Given the description of an element on the screen output the (x, y) to click on. 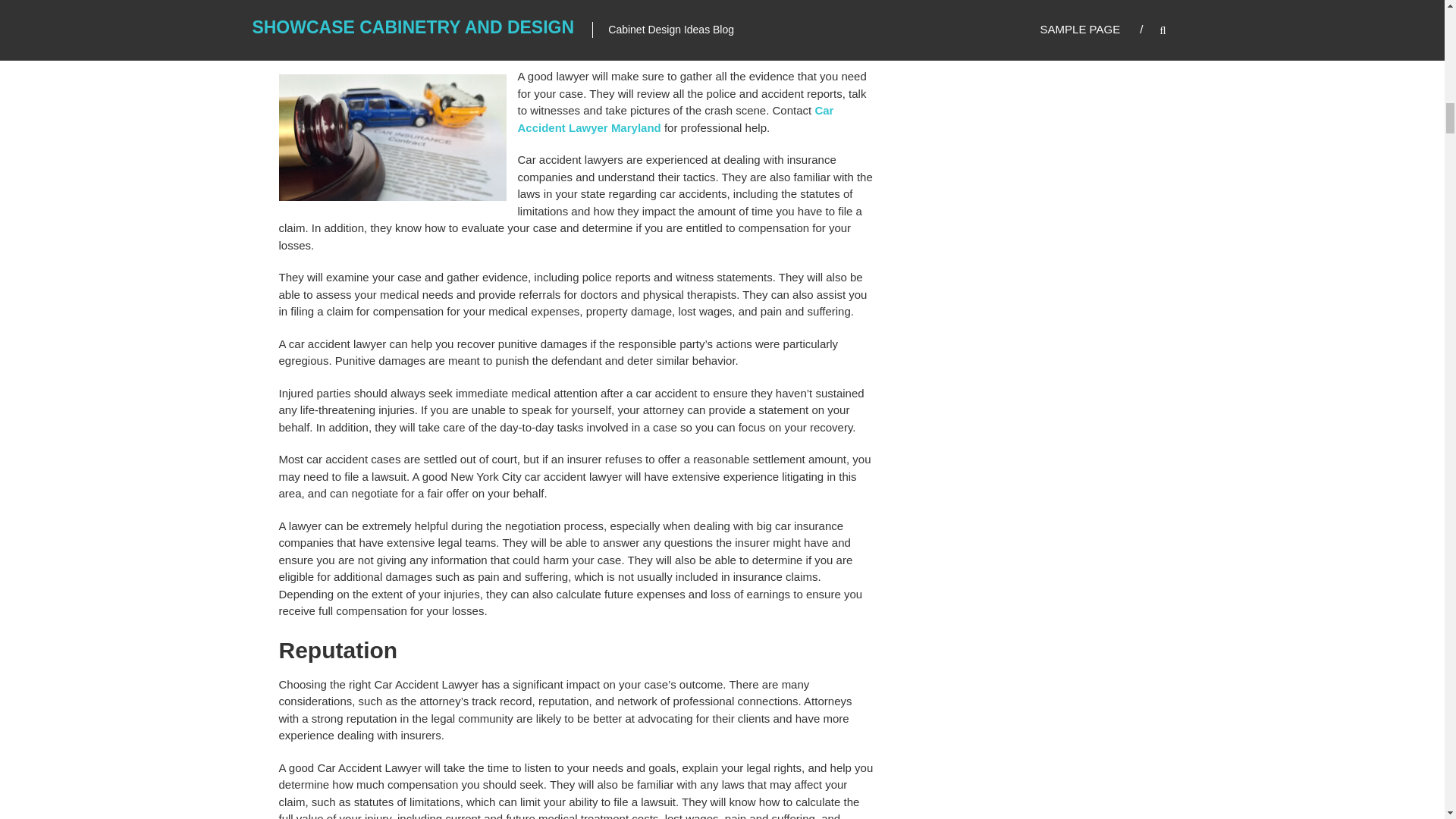
Car Accident Lawyer Maryland (674, 119)
